Given the description of an element on the screen output the (x, y) to click on. 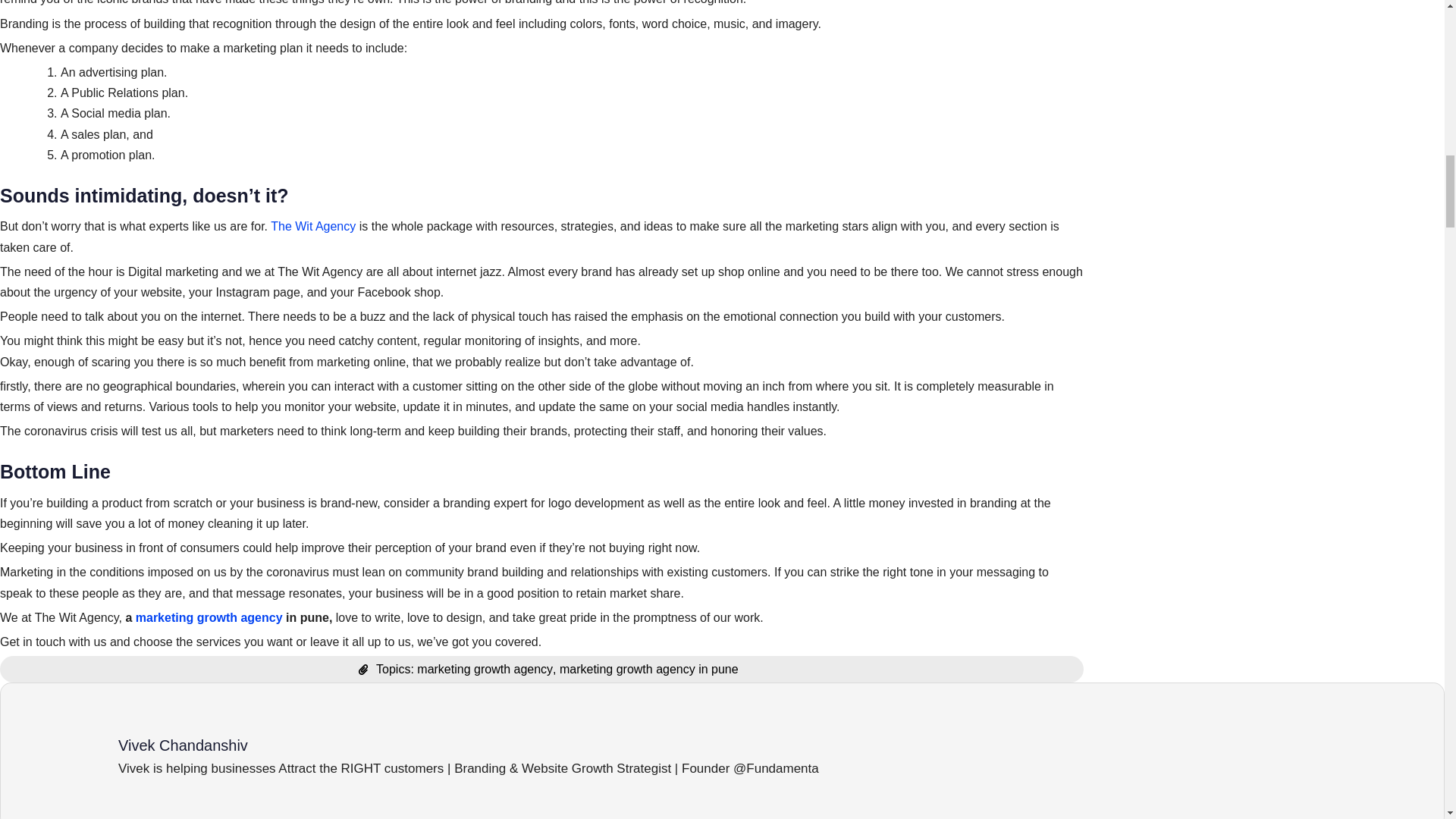
Vivek Chandanshiv (769, 745)
marketing growth agency (208, 617)
The Wit Agency (311, 226)
marketing growth agency in pune (648, 668)
marketing growth agency (484, 668)
